Given the description of an element on the screen output the (x, y) to click on. 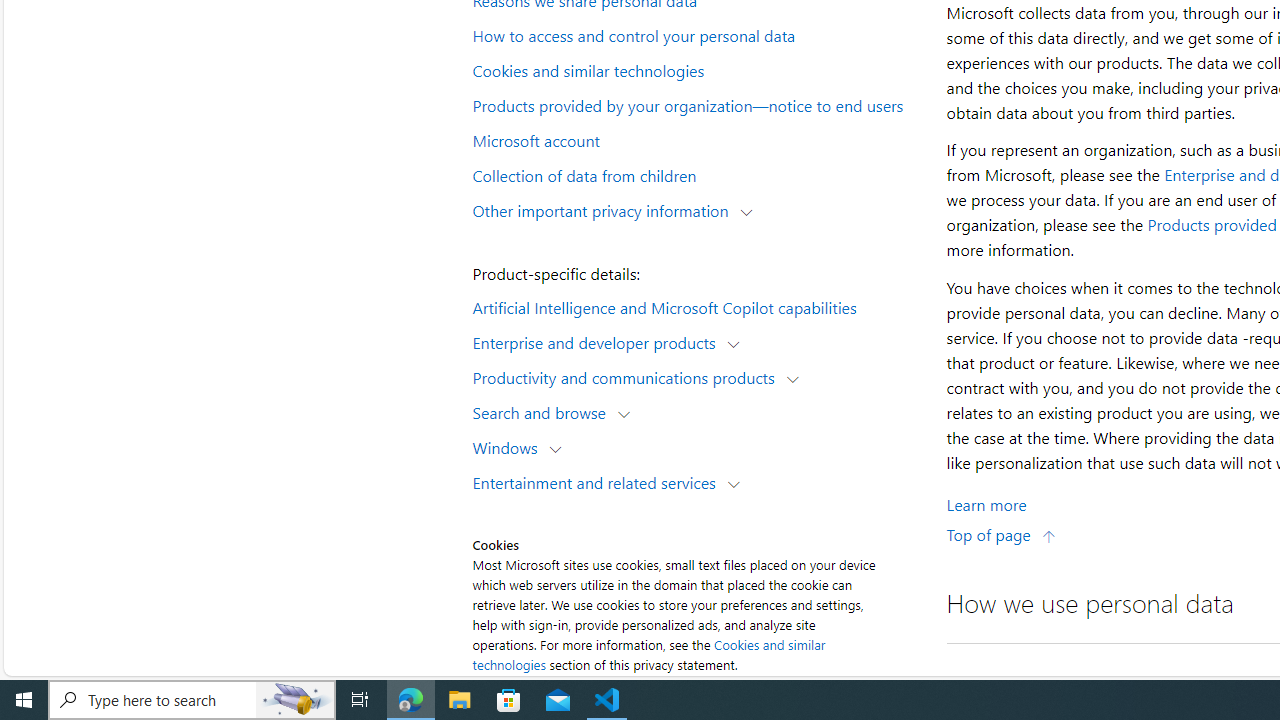
Cookies and similar technologies (696, 69)
